Given the description of an element on the screen output the (x, y) to click on. 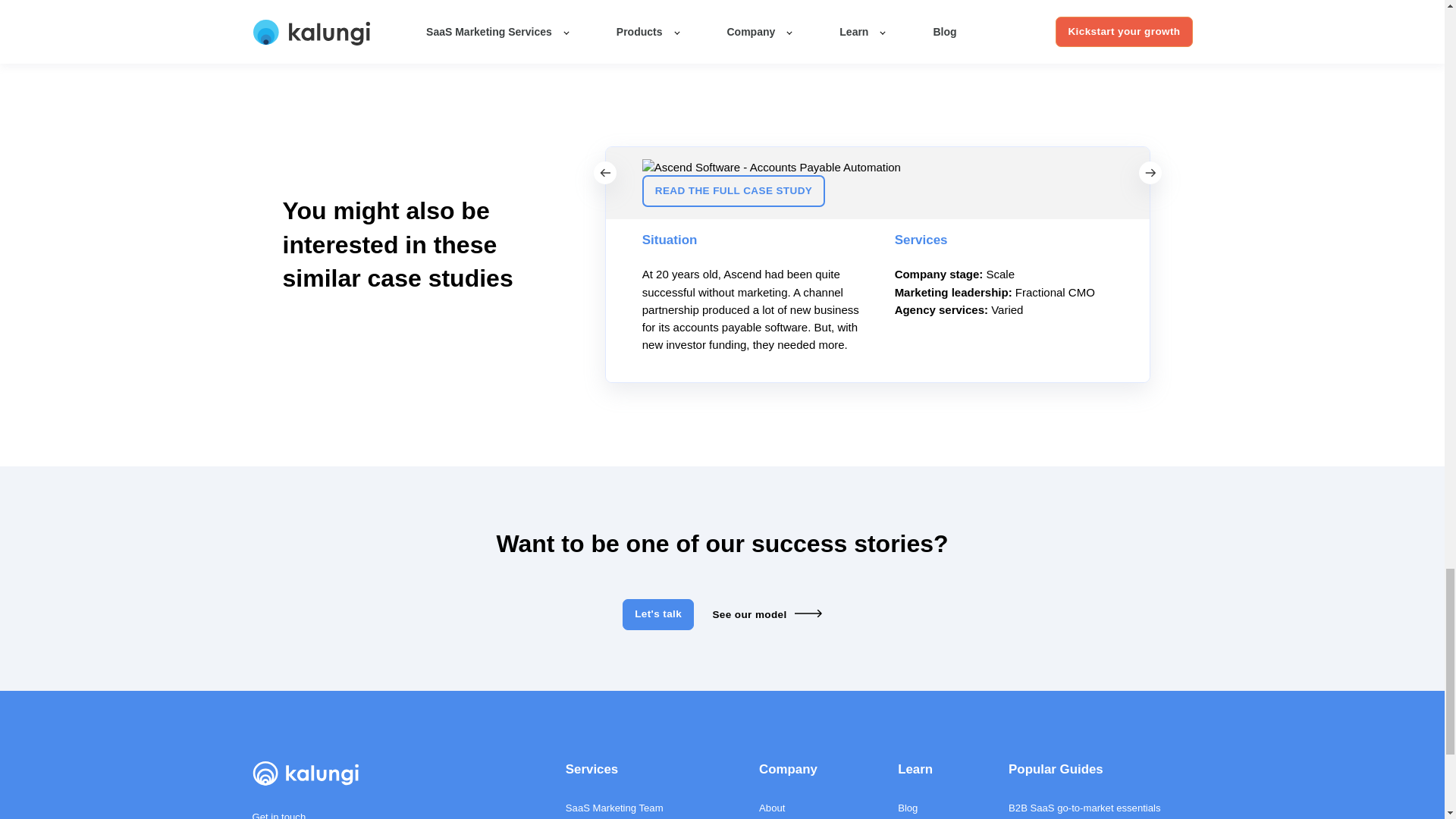
READ THE FULL CASE STUDY (733, 191)
See our model (766, 614)
SaaS Marketing Team (630, 807)
Get in touch (278, 815)
Let's talk (658, 613)
